Given the description of an element on the screen output the (x, y) to click on. 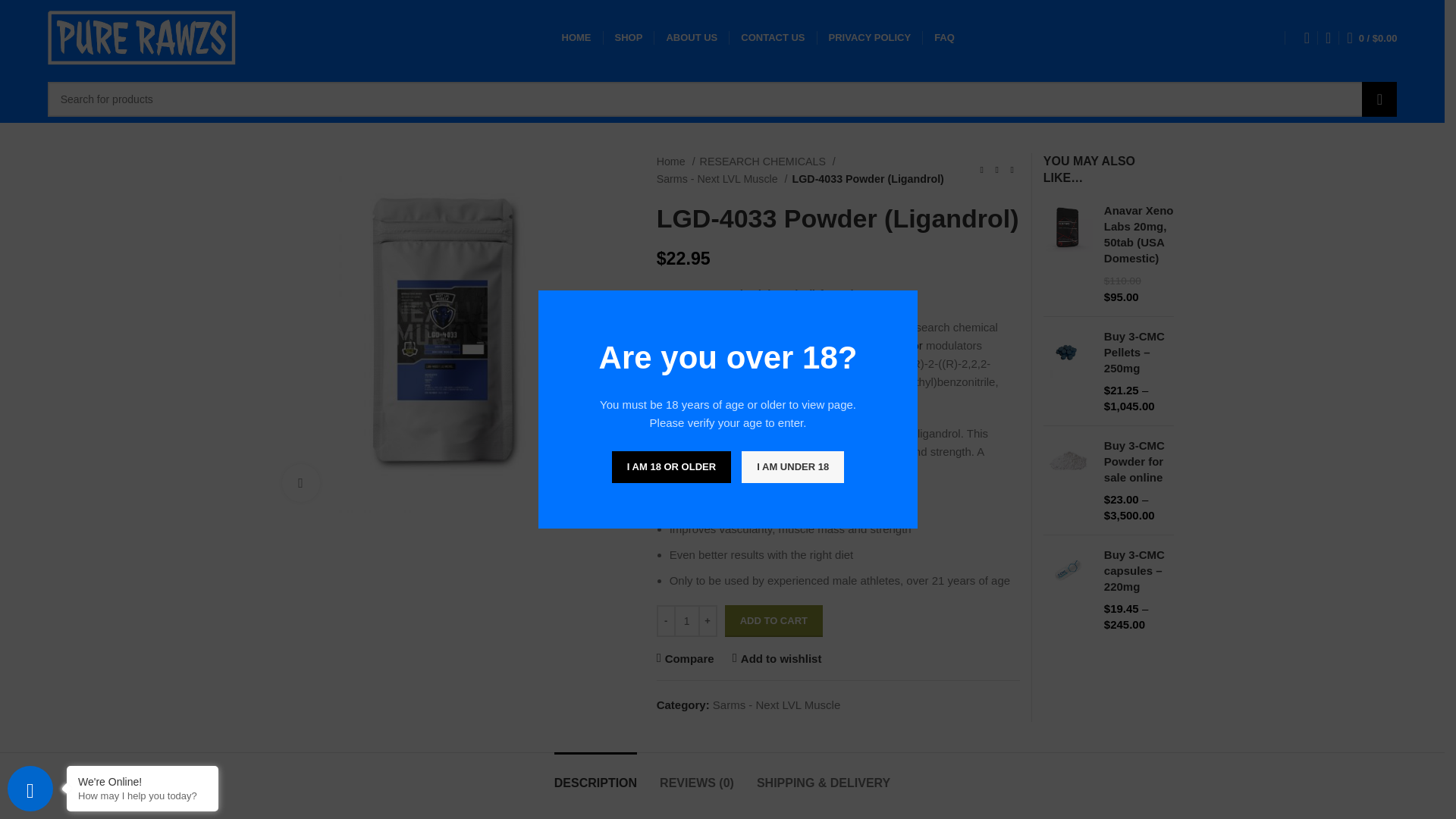
I AM 18 OR OLDER (670, 467)
chemical name (770, 363)
Shopping cart (1372, 37)
I AM UNDER 18 (792, 467)
ABOUT US (691, 37)
RESEARCH CHEMICALS (767, 161)
Sarms - Next LVL Muscle (721, 179)
Add to wishlist (777, 658)
Search for products (722, 99)
Sarms - Next LVL Muscle (776, 704)
HOME (576, 37)
SEARCH (1378, 99)
Compare (685, 658)
PRIVACY POLICY (869, 37)
ADD TO CART (773, 621)
